Given the description of an element on the screen output the (x, y) to click on. 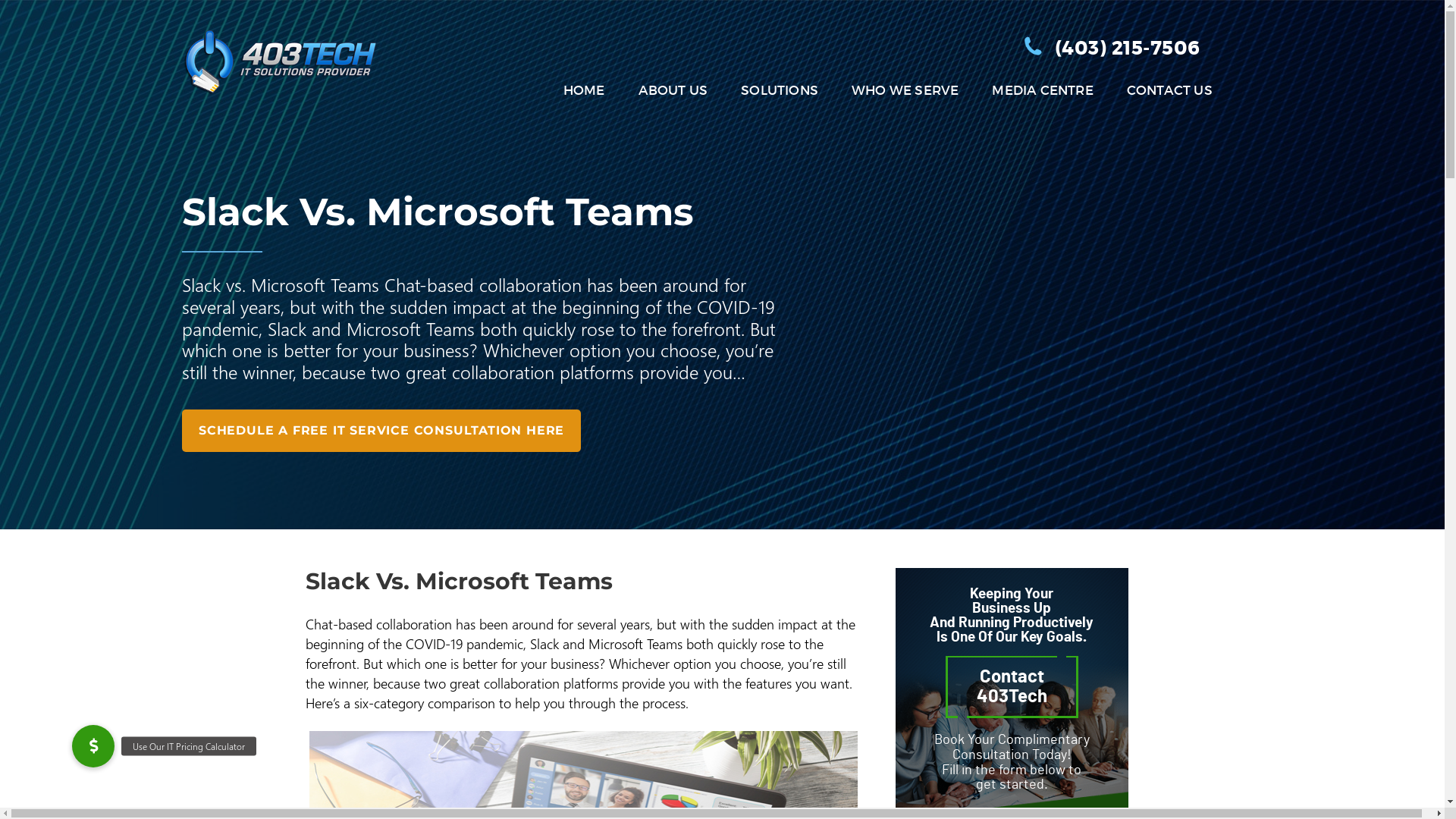
WHO WE SERVE Element type: text (904, 90)
HOME Element type: text (584, 90)
MEDIA CENTRE Element type: text (1041, 90)
CONTACT US Element type: text (1169, 90)
ABOUT US Element type: text (673, 90)
(403) 215-7506 Element type: text (1127, 48)
SOLUTIONS Element type: text (779, 90)
Use Our IT Pricing Calculator Element type: text (93, 745)
SCHEDULE A FREE IT SERVICE CONSULTATION HERE Element type: text (381, 430)
